Given the description of an element on the screen output the (x, y) to click on. 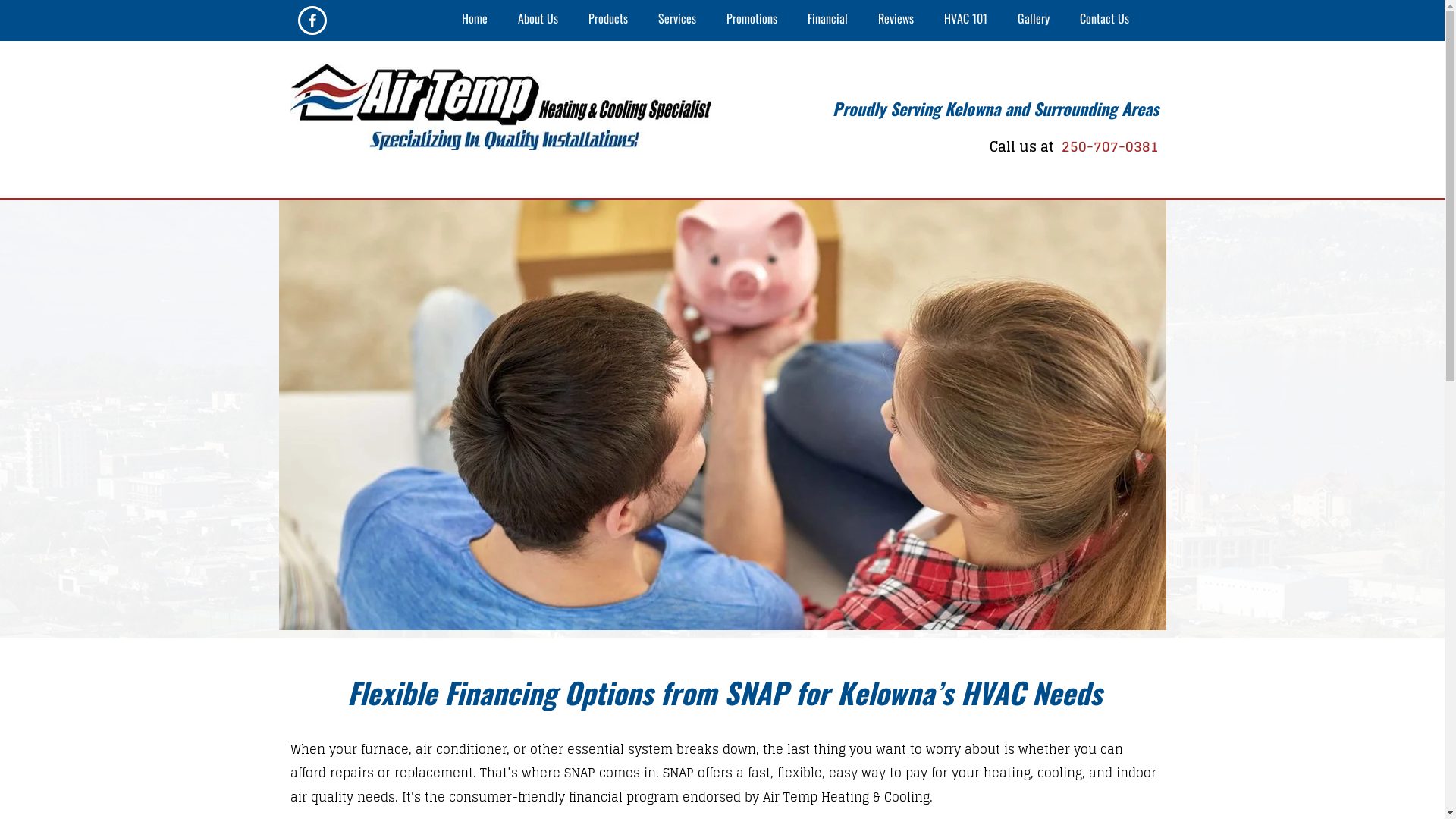
Gallery Element type: text (1033, 20)
Products Element type: text (607, 20)
HVAC 101 Element type: text (965, 20)
250-707-0381 Element type: text (1107, 146)
Contact Us Element type: text (1104, 20)
Promotions Element type: text (751, 20)
About Us Element type: text (537, 20)
Reviews Element type: text (895, 20)
Services Element type: text (677, 20)
Home Element type: text (474, 20)
